Given the description of an element on the screen output the (x, y) to click on. 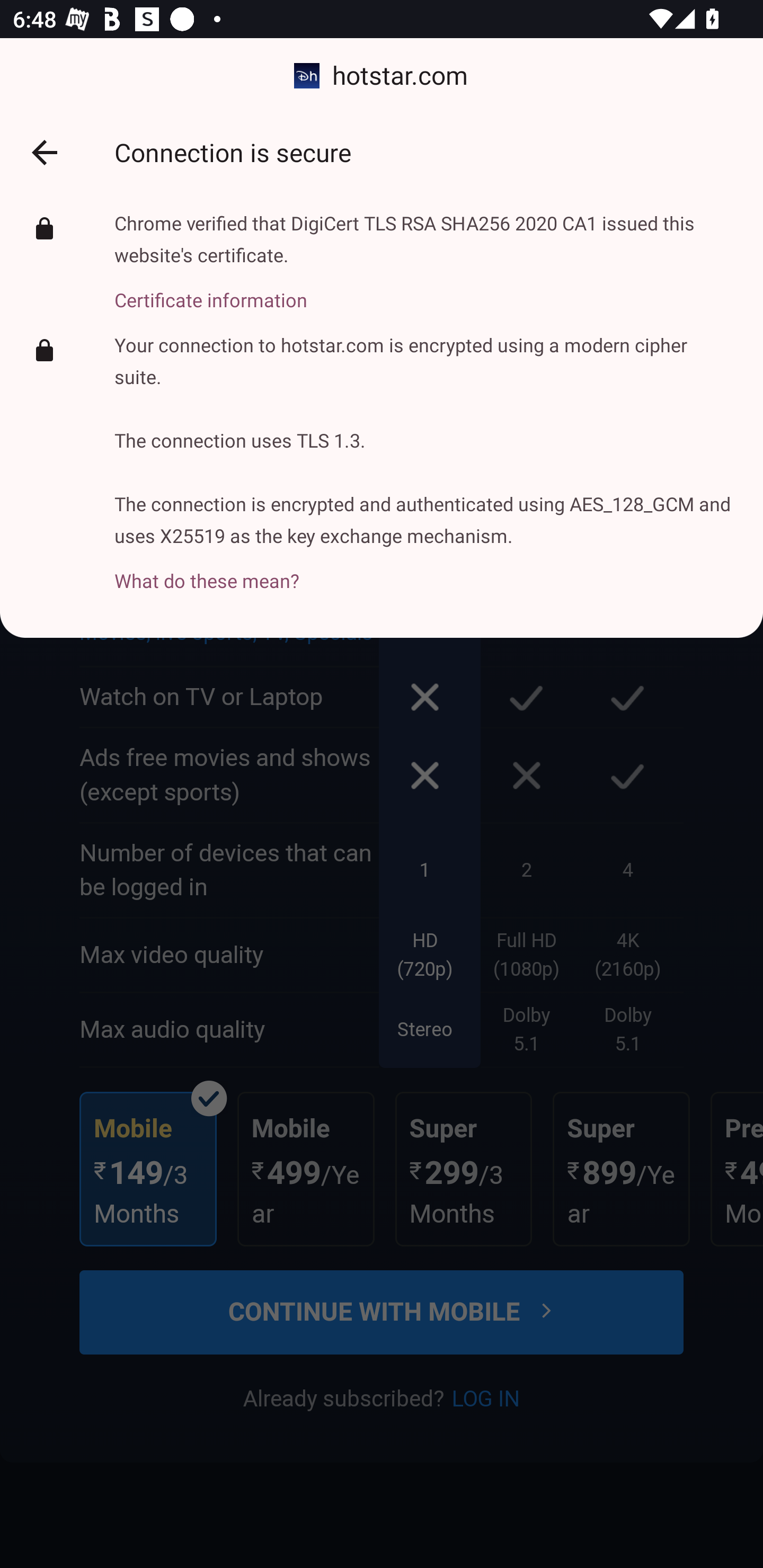
hotstar.com (381, 75)
Back (44, 152)
Certificate information (425, 290)
What do these mean? (425, 570)
